Given the description of an element on the screen output the (x, y) to click on. 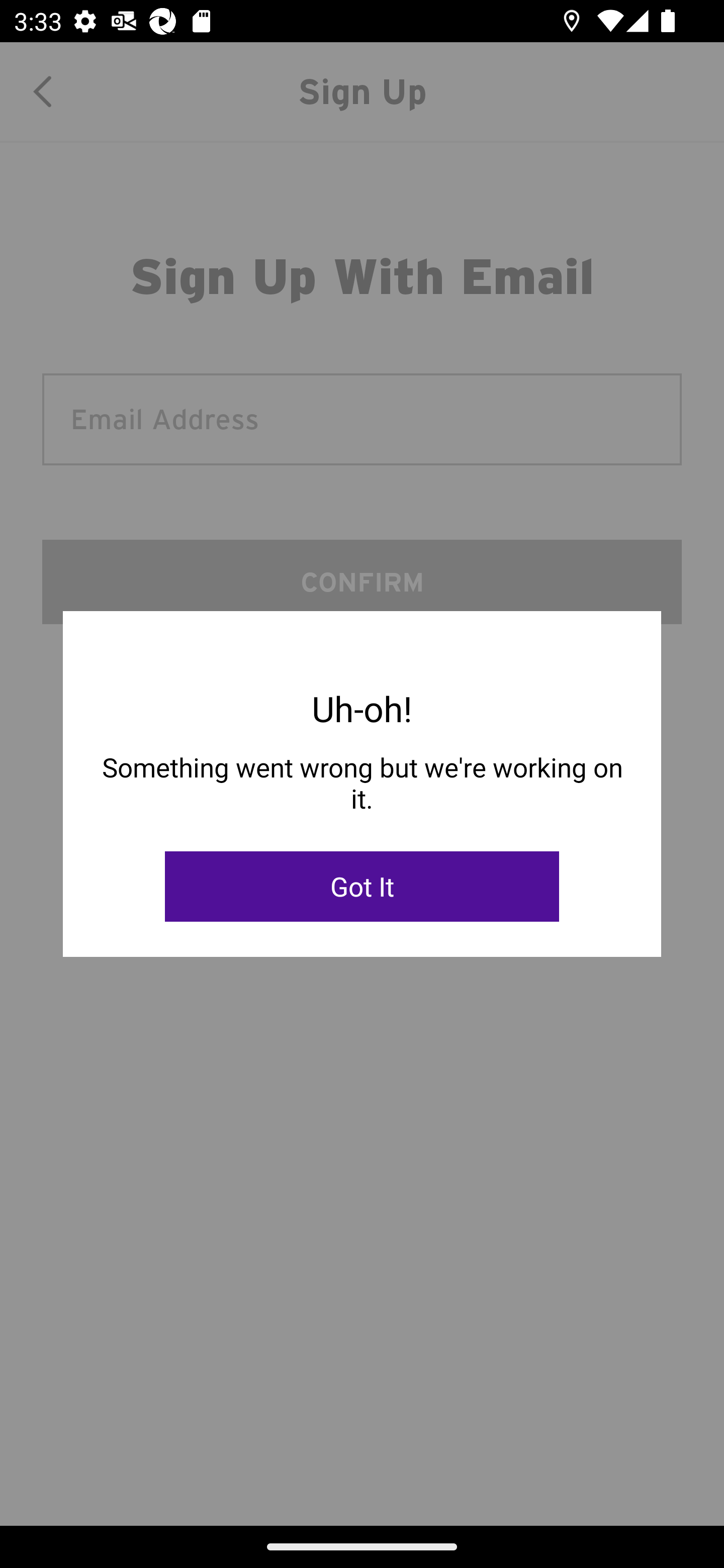
Got It (361, 886)
